Given the description of an element on the screen output the (x, y) to click on. 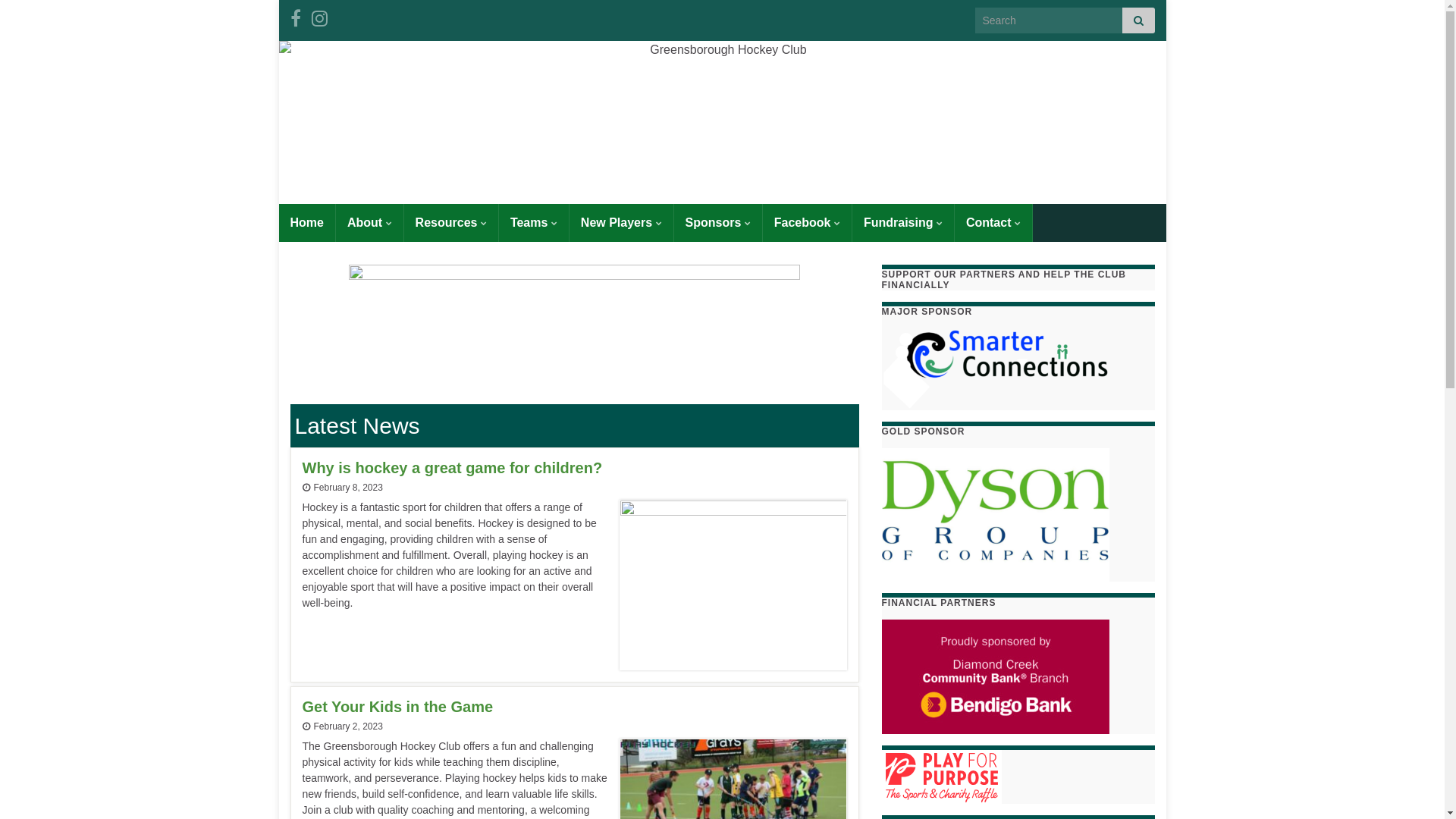
Home Element type: text (307, 222)
About Element type: text (369, 222)
Greensborough Hockey Club Element type: hover (722, 121)
Why is hockey a great game for children? Element type: text (573, 467)
Contact Element type: text (993, 222)
Get Your Kids in the Game Element type: text (573, 706)
Teams Element type: text (533, 222)
Facebook Element type: text (806, 222)
Resources Element type: text (451, 222)
instagram Element type: hover (318, 16)
Fundraising Element type: text (902, 222)
Sponsors Element type: text (718, 222)
New Players Element type: text (621, 222)
facebook Element type: hover (294, 16)
